Given the description of an element on the screen output the (x, y) to click on. 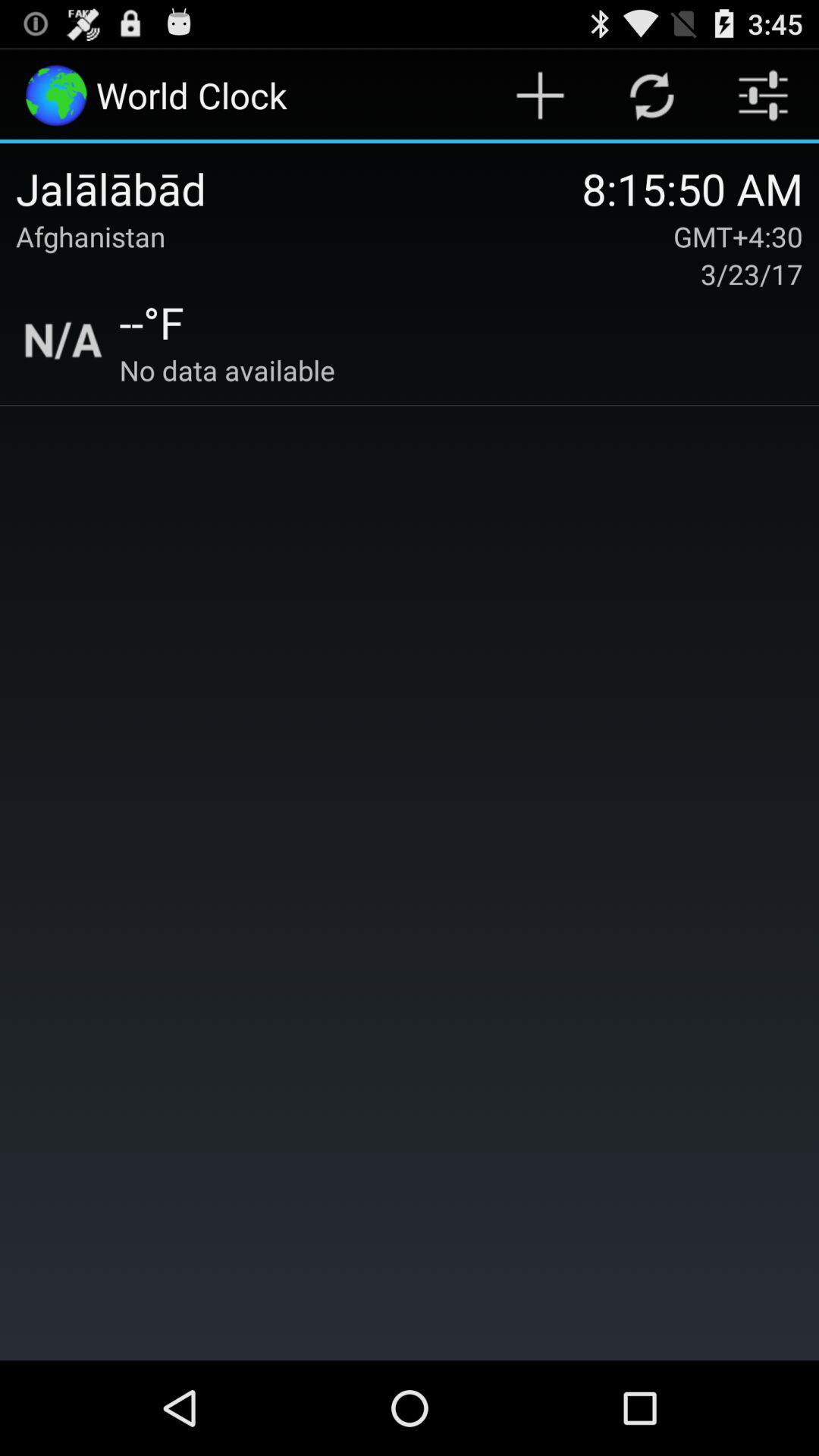
click the no data available (226, 370)
